Given the description of an element on the screen output the (x, y) to click on. 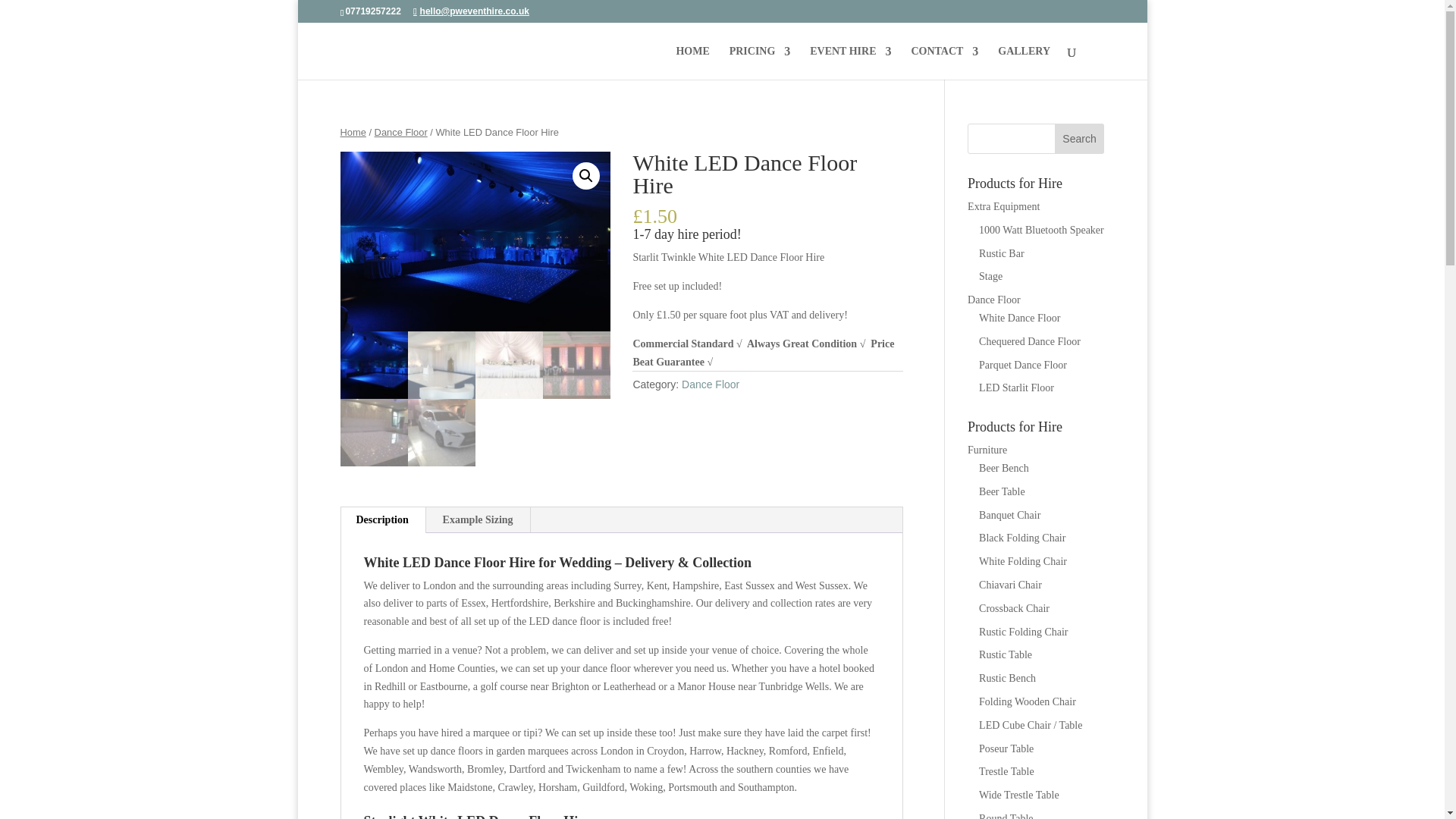
CONTACT (944, 62)
GALLERY (1023, 62)
PRICING (759, 62)
HOME (692, 62)
EVENT HIRE (850, 62)
Search (1079, 138)
